Given the description of an element on the screen output the (x, y) to click on. 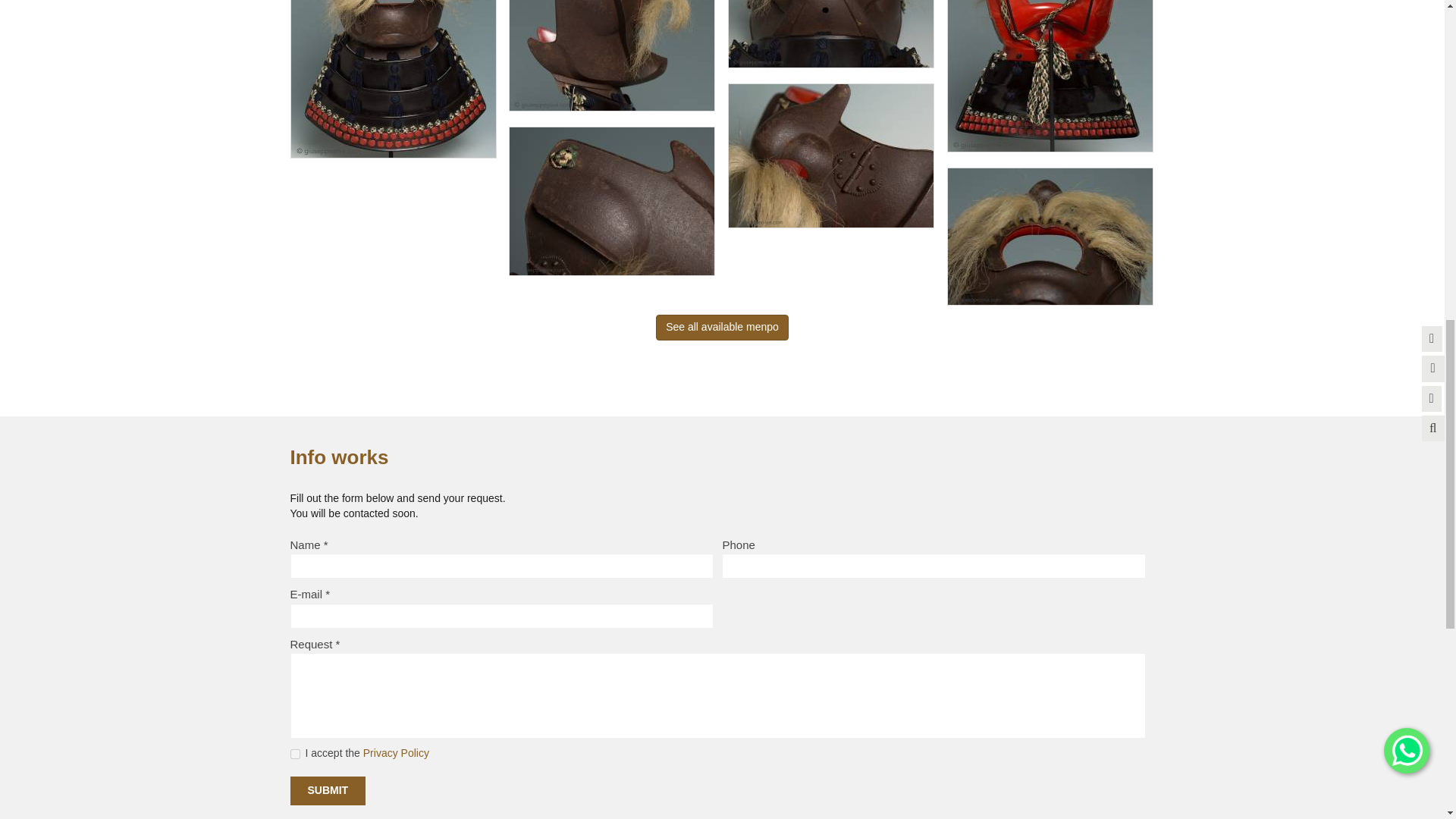
This field is required. (326, 544)
true (294, 754)
Menpo (722, 327)
This field is required. (338, 644)
This field is required. (327, 594)
